Given the description of an element on the screen output the (x, y) to click on. 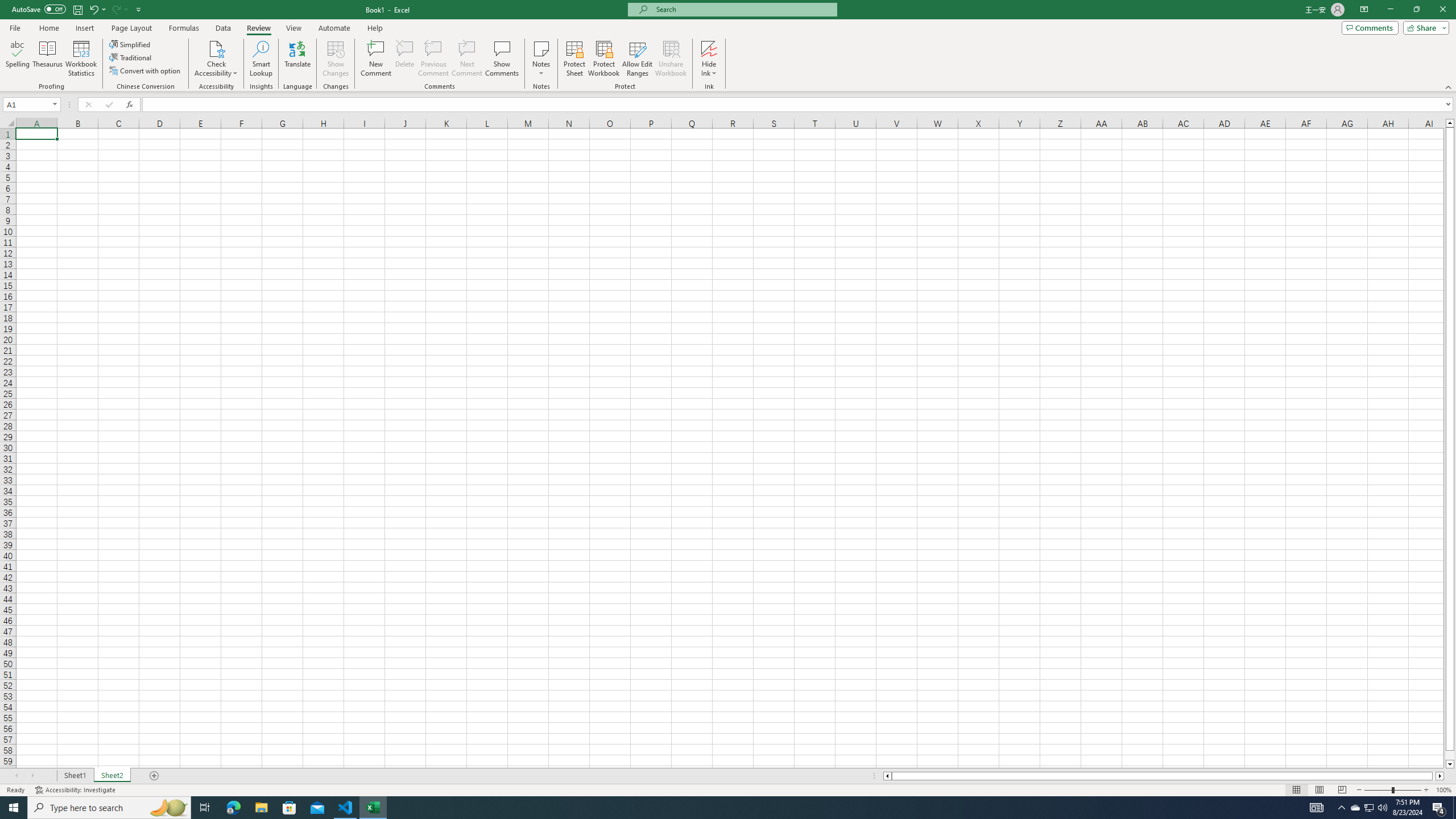
Page right (1433, 775)
Hide Ink (708, 58)
